Given the description of an element on the screen output the (x, y) to click on. 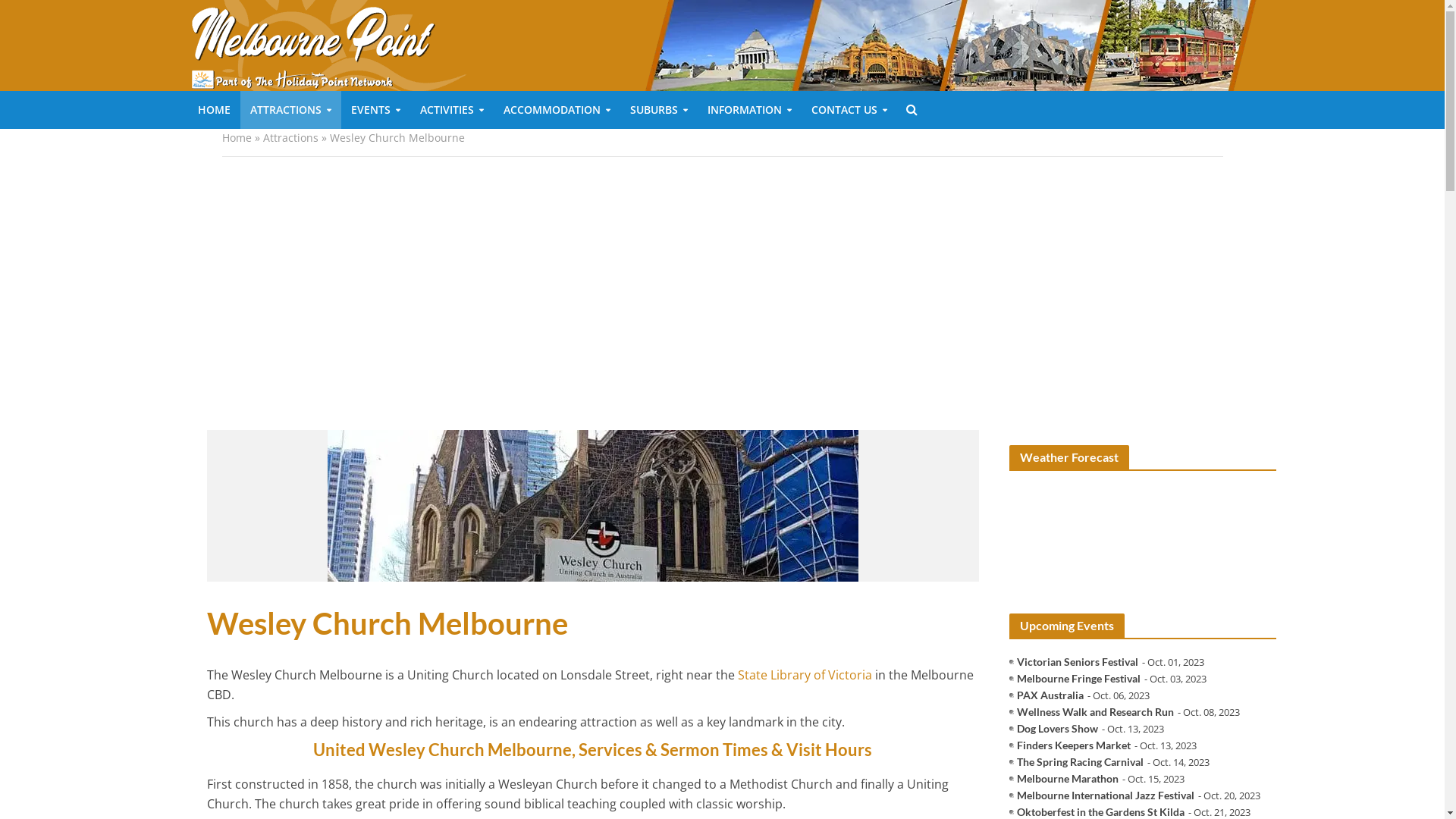
MELBOURNE WEATHER Element type: text (1142, 541)
ACTIVITIES Element type: text (450, 109)
The Spring Racing Carnival Element type: text (1079, 761)
ATTRACTIONS Element type: text (289, 109)
Victorian Seniors Festival Element type: text (1077, 661)
State Library of Victoria Element type: text (804, 676)
Wellness Walk and Research Run Element type: text (1094, 711)
Melbourne Fringe Festival Element type: text (1078, 678)
Attractions Element type: text (289, 137)
ACCOMMODATION Element type: text (555, 109)
Weather Widget Element type: hover (1142, 541)
Melbourne Marathon Element type: text (1067, 778)
HOME Element type: text (214, 109)
Finders Keepers Market Element type: text (1073, 745)
SUBURBS Element type: text (658, 109)
Advertisement Element type: hover (721, 293)
EVENTS Element type: text (375, 109)
Home Element type: text (236, 137)
PAX Australia Element type: text (1049, 694)
Melbourne International Jazz Festival Element type: text (1105, 795)
CONTACT US Element type: text (848, 109)
INFORMATION Element type: text (749, 109)
Dog Lovers Show Element type: text (1057, 728)
